Given the description of an element on the screen output the (x, y) to click on. 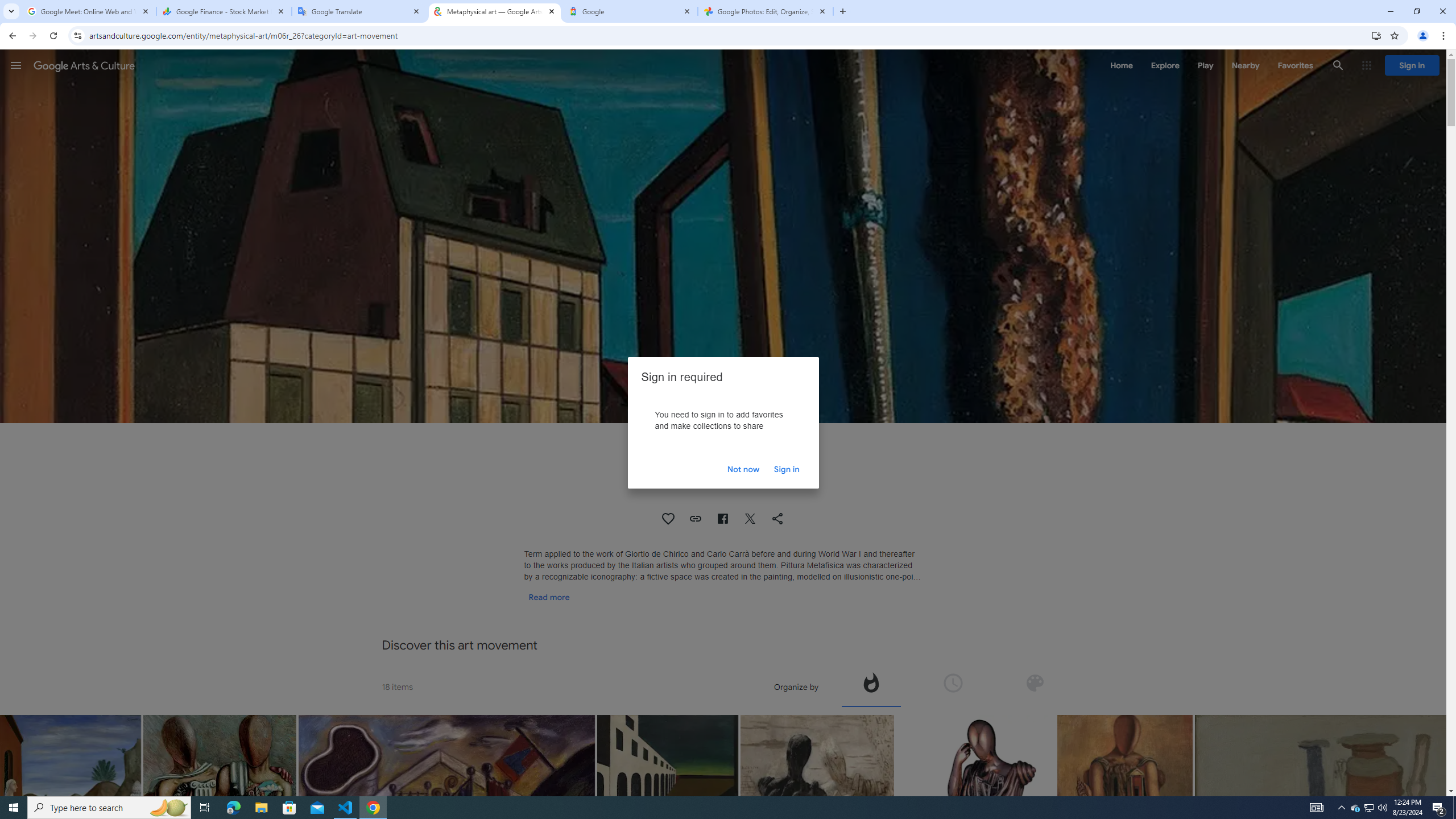
Not now (743, 468)
Google Arts & Culture (84, 65)
Nearby (1244, 65)
